Given the description of an element on the screen output the (x, y) to click on. 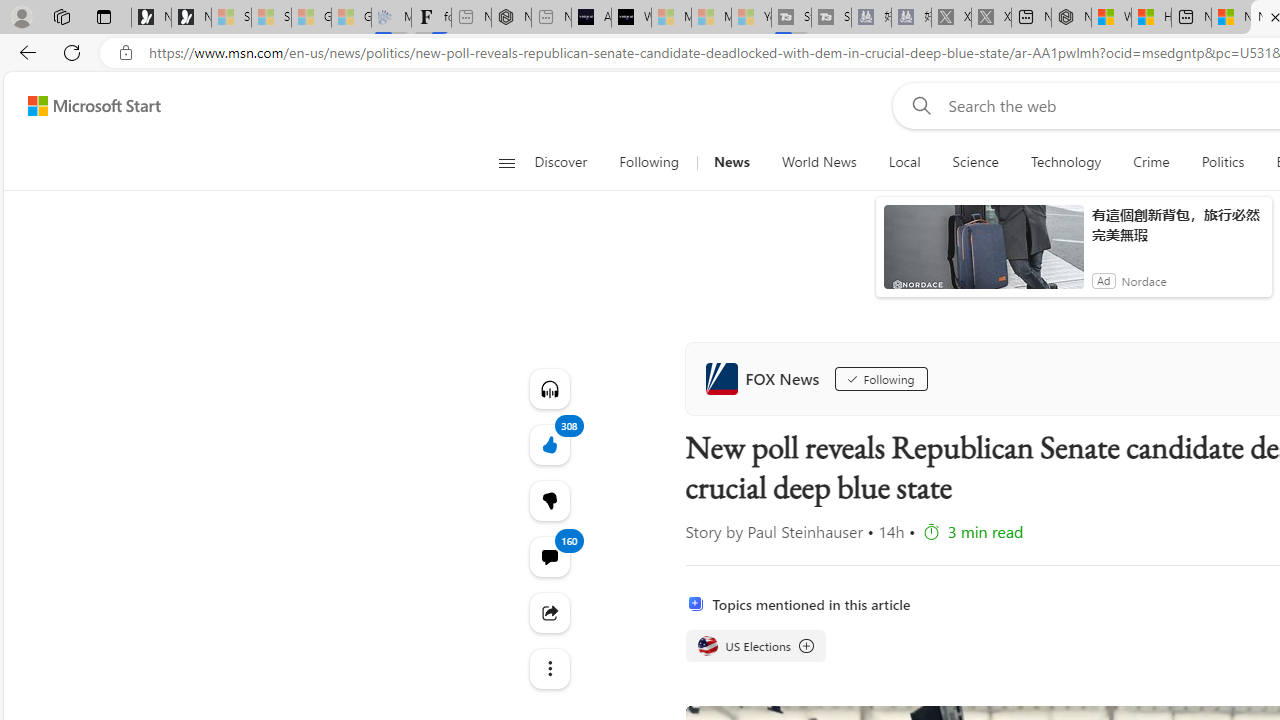
Share this story (548, 612)
Class: button-glyph (505, 162)
Microsoft Start - Sleeping (711, 17)
World News (818, 162)
Nordace - My Account (1071, 17)
Local (904, 162)
Huge shark washes ashore at New York City beach | Watch (1151, 17)
AI Voice Changer for PC and Mac - Voice.ai (591, 17)
